Given the description of an element on the screen output the (x, y) to click on. 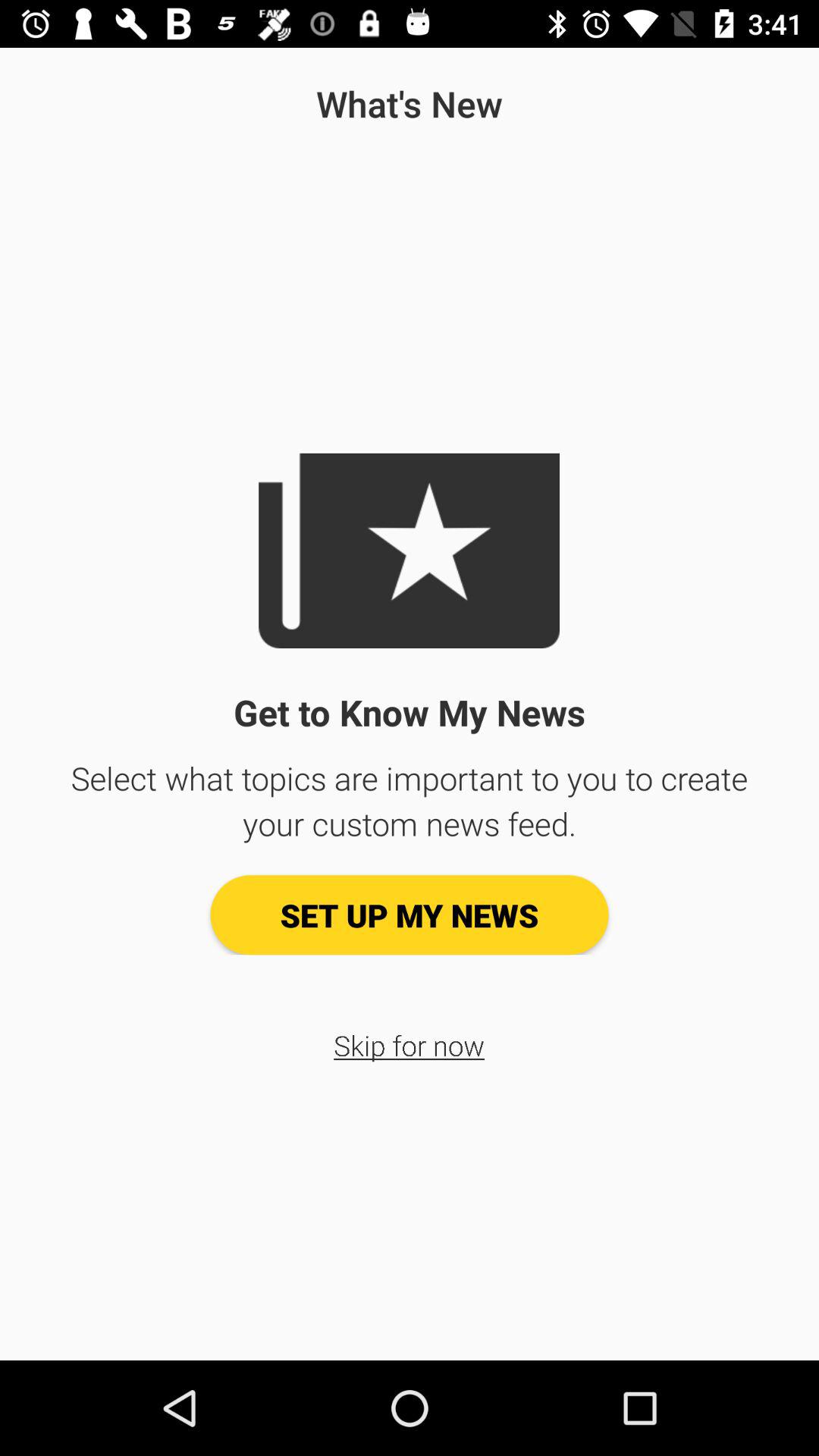
jump to the skip for now app (409, 1044)
